Given the description of an element on the screen output the (x, y) to click on. 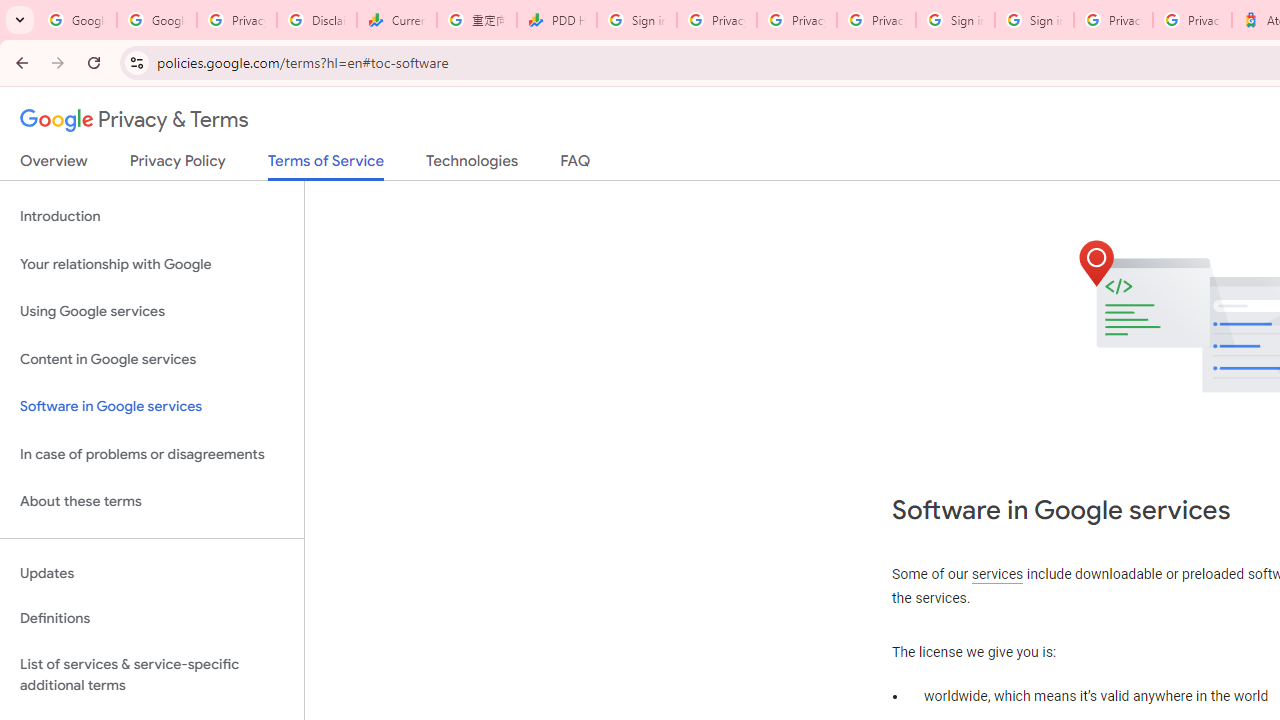
Privacy Checkup (796, 20)
Sign in - Google Accounts (955, 20)
Your relationship with Google (152, 263)
Sign in - Google Accounts (636, 20)
Privacy Checkup (876, 20)
Google Workspace Admin Community (76, 20)
About these terms (152, 502)
